Given the description of an element on the screen output the (x, y) to click on. 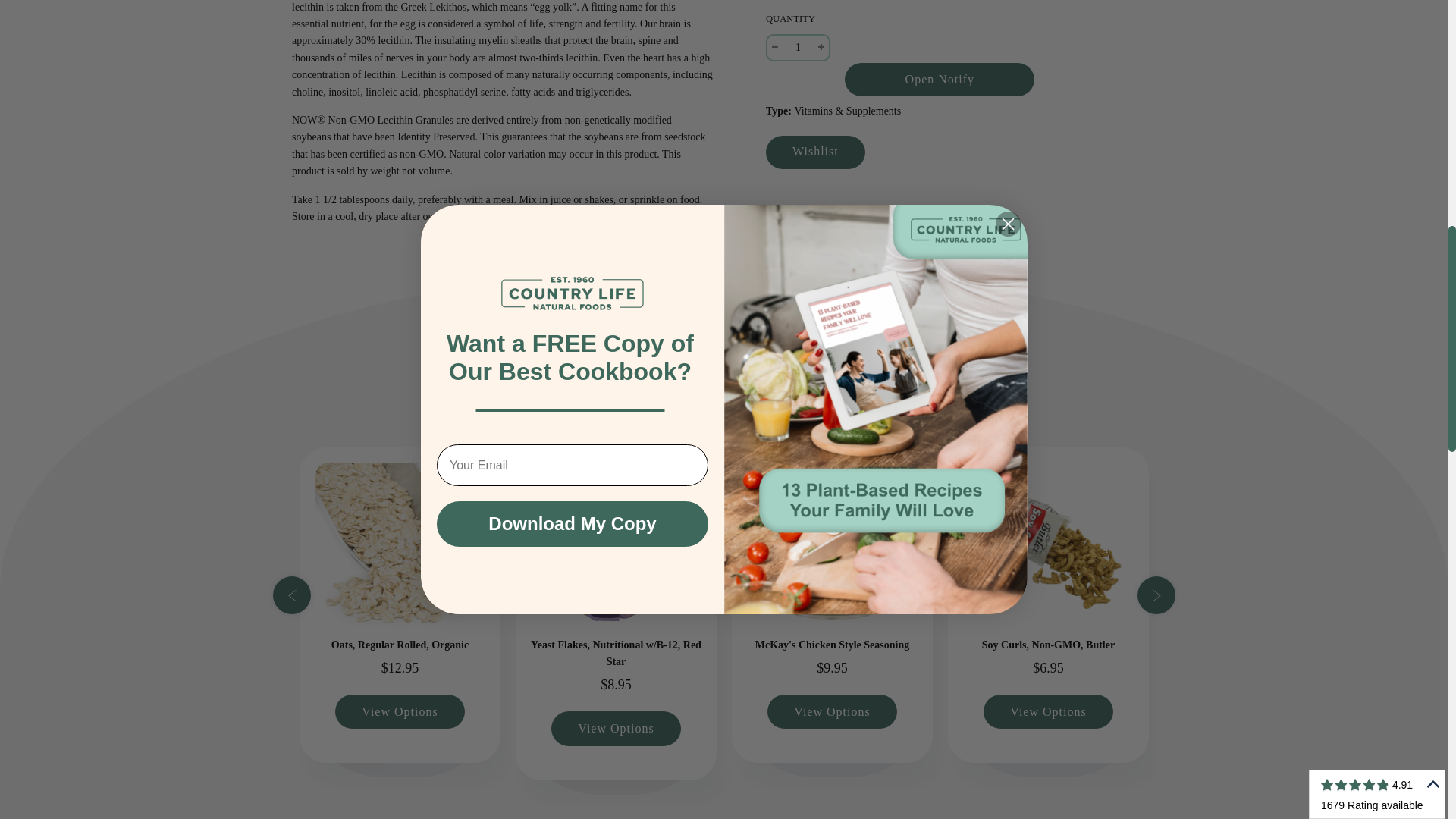
Soy Curls, Non-GMO, Butler (1048, 547)
Oats, Regular Rolled, Organic (399, 547)
McKay's Chicken Style Seasoning (831, 547)
